Given the description of an element on the screen output the (x, y) to click on. 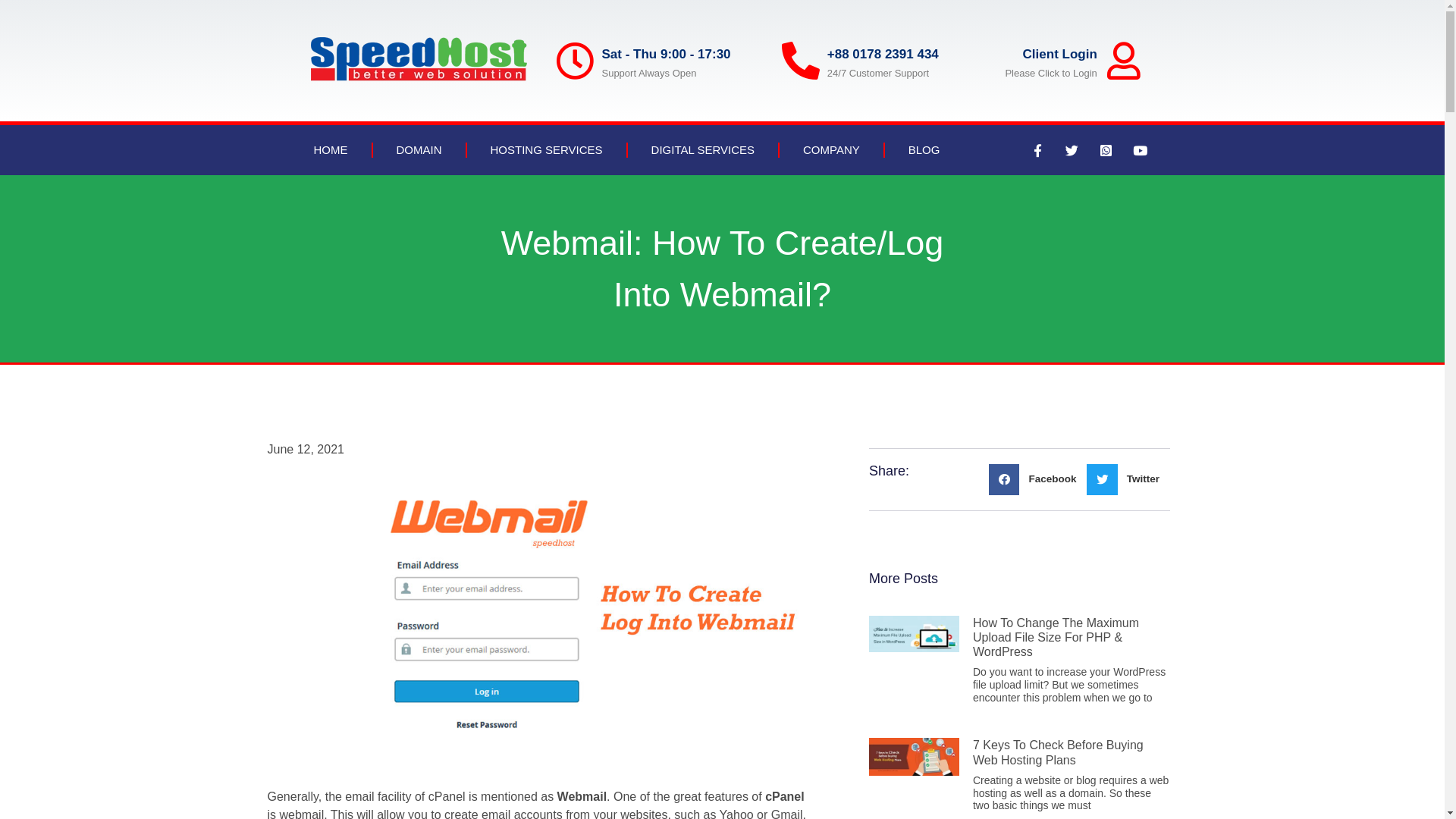
DIGITAL SERVICES Element type: text (702, 149)
HOME Element type: text (329, 149)
HOSTING SERVICES Element type: text (546, 149)
7 Keys To Check Before Buying Web Hosting Plans Element type: text (1057, 751)
Client Login Element type: text (1059, 54)
BLOG Element type: text (923, 149)
DOMAIN Element type: text (419, 149)
June 12, 2021 Element type: text (304, 449)
COMPANY Element type: text (831, 149)
